Given the description of an element on the screen output the (x, y) to click on. 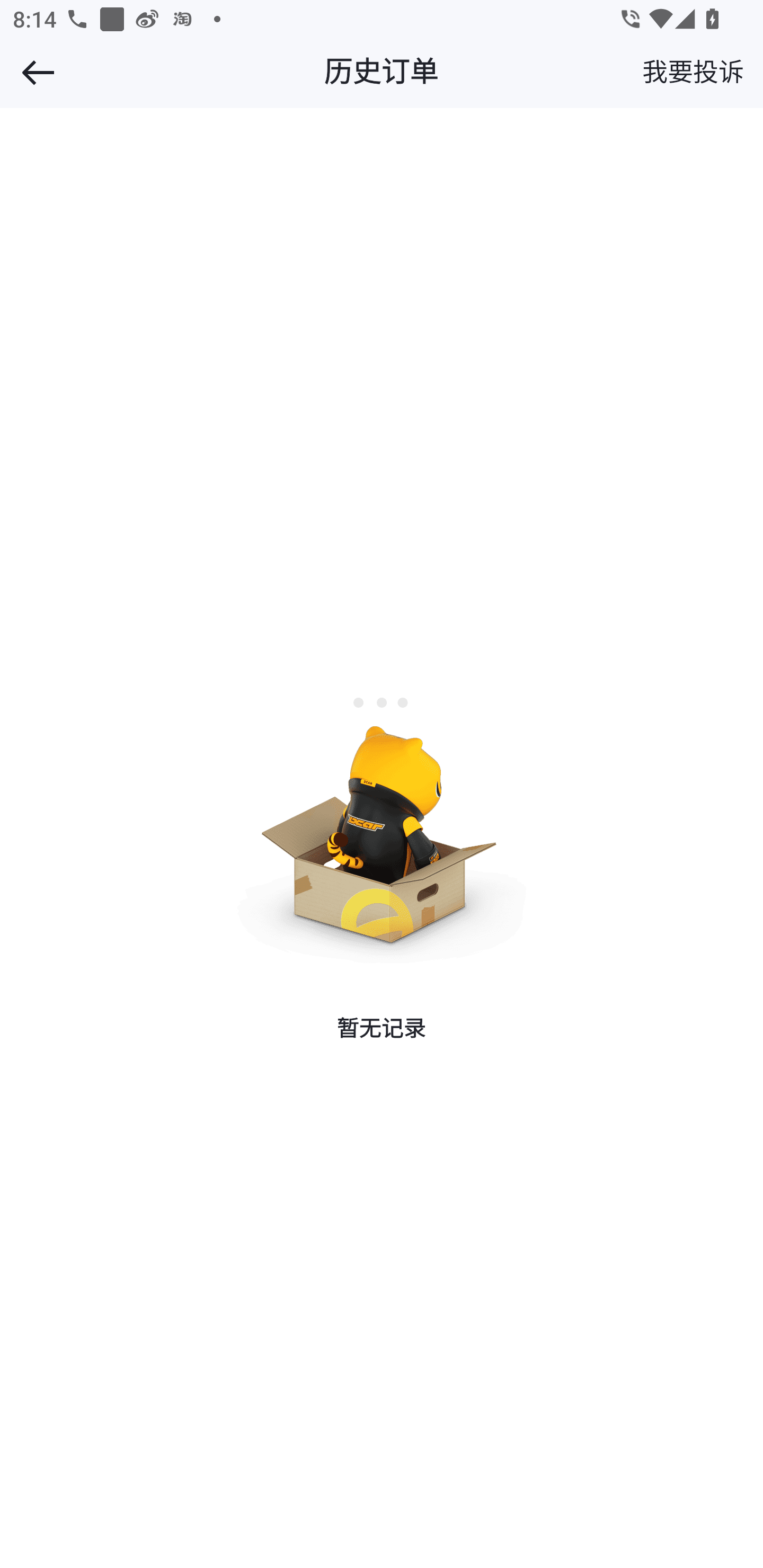
历史订单 (381, 71)
我要投诉 (701, 71)
